Given the description of an element on the screen output the (x, y) to click on. 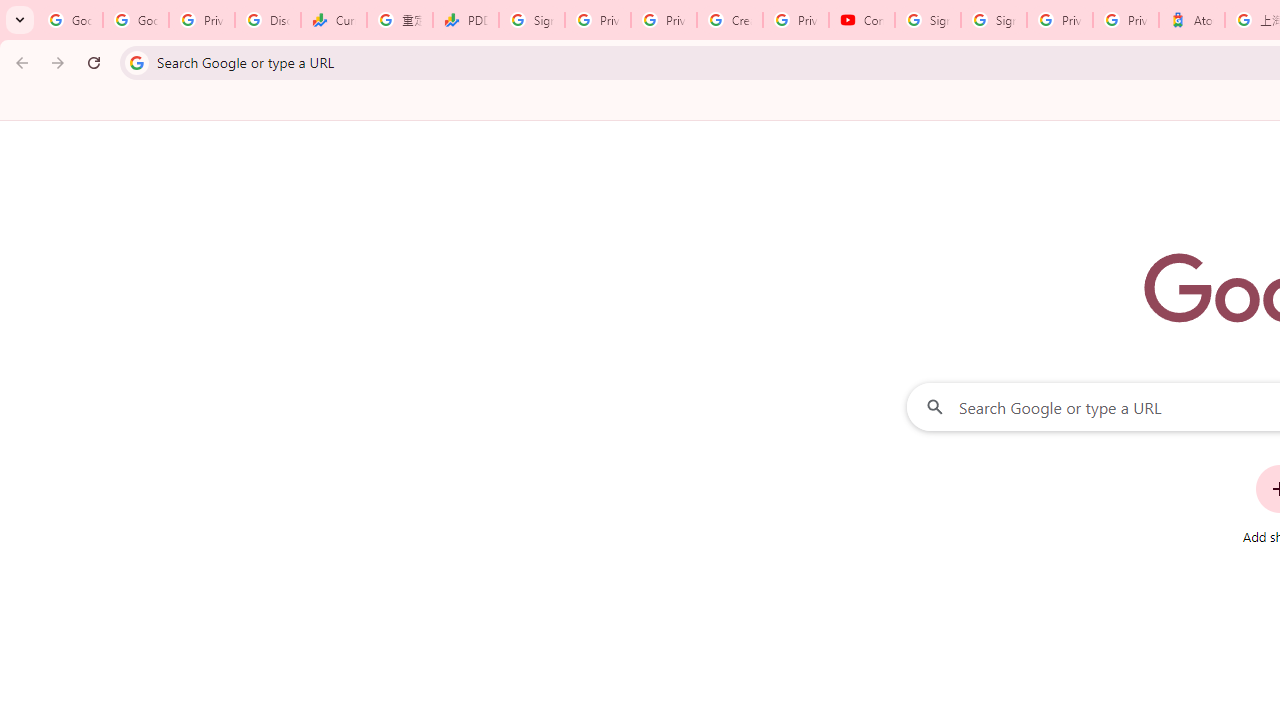
Privacy Checkup (664, 20)
PDD Holdings Inc - ADR (PDD) Price & News - Google Finance (465, 20)
Sign in - Google Accounts (993, 20)
